Given the description of an element on the screen output the (x, y) to click on. 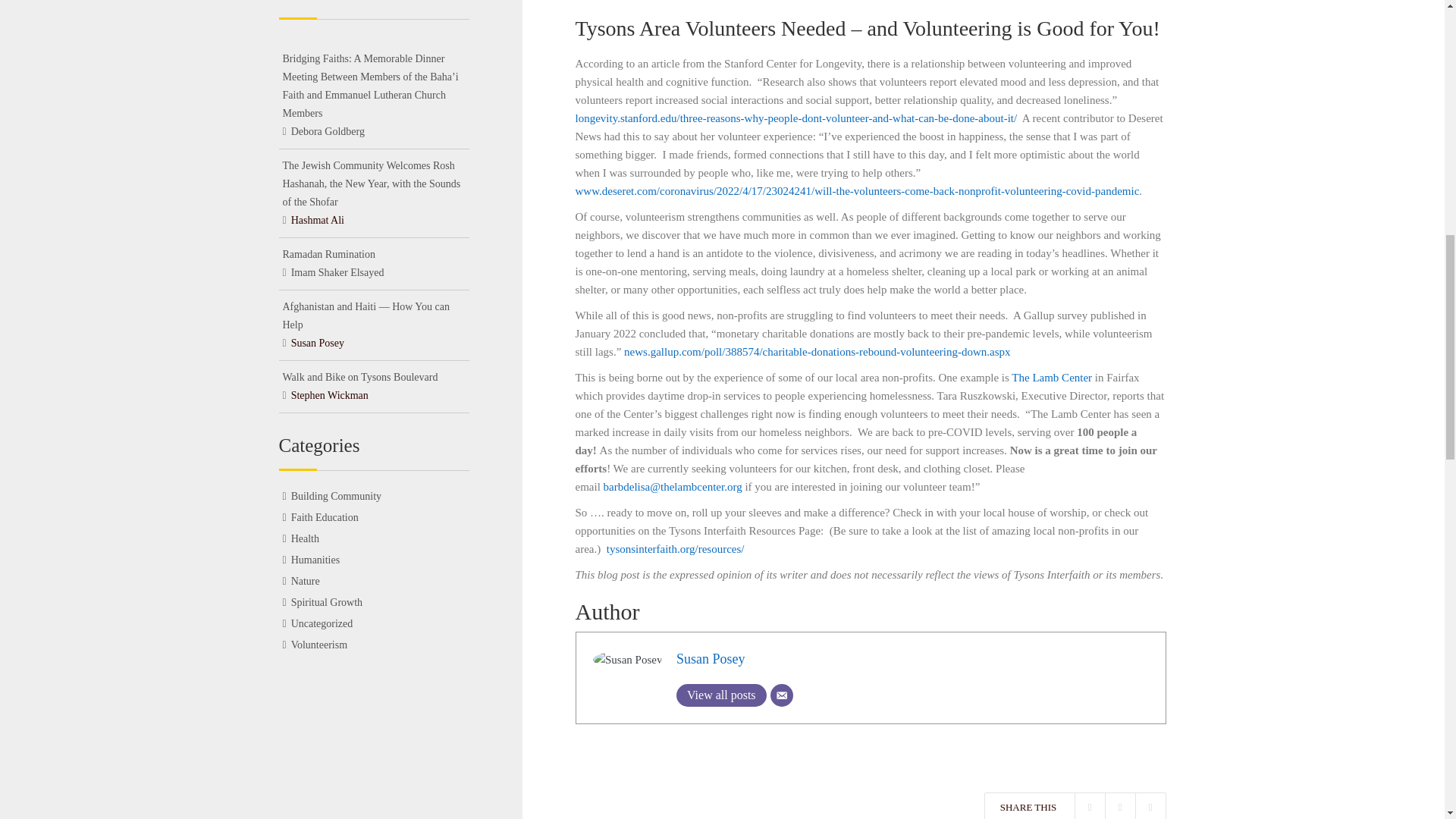
Share on Linkedin (1149, 806)
Share on Facebook (1088, 806)
View all posts (722, 694)
Susan Posey (711, 658)
Share on Twitter (1118, 806)
